Given the description of an element on the screen output the (x, y) to click on. 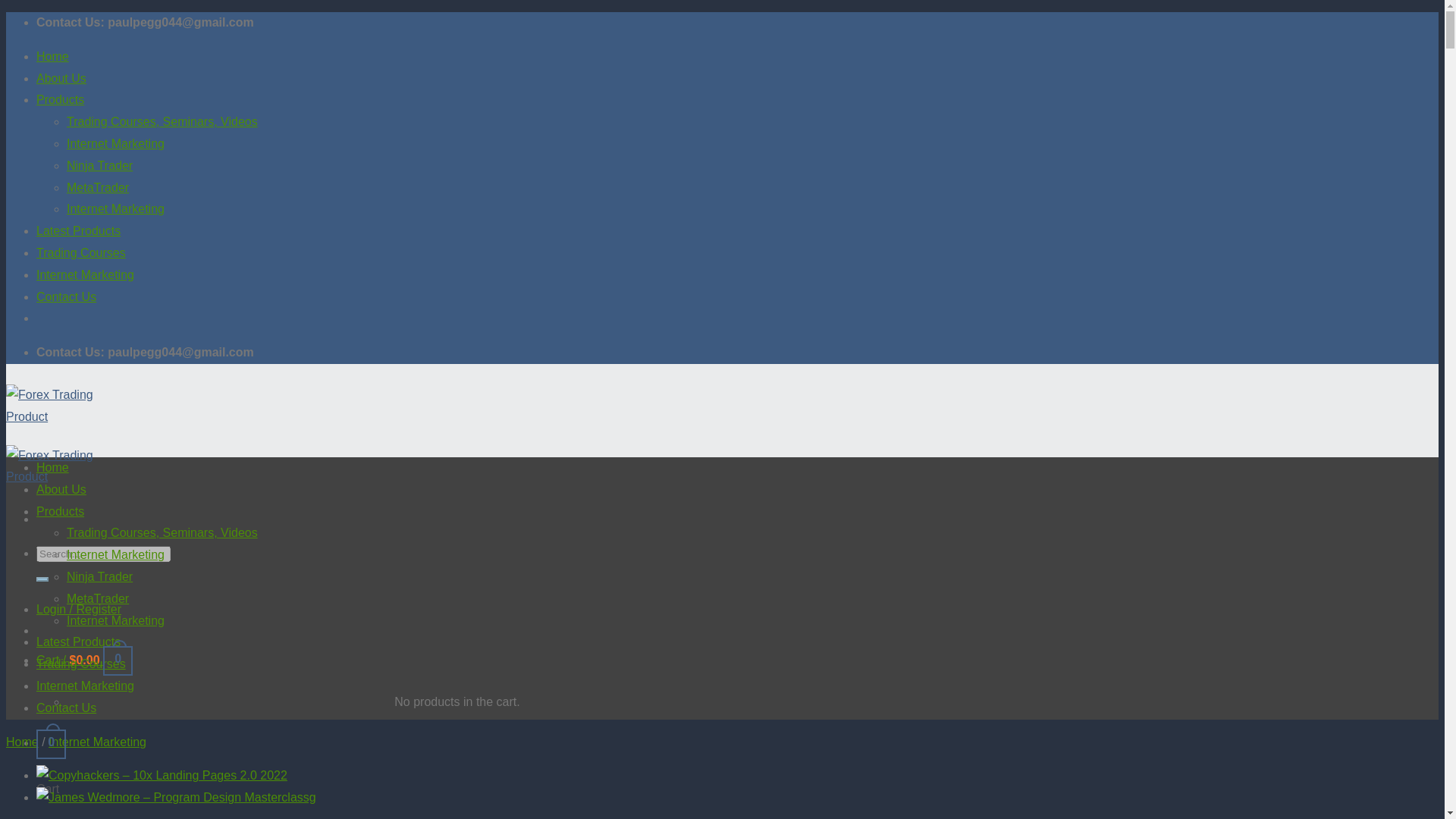
Contact Us (66, 707)
Contact Us (66, 296)
About Us (60, 489)
Ninja Trader (99, 164)
Trading Courses, Seminars, Videos (161, 532)
Internet Marketing (97, 741)
Trading Courses (80, 252)
Home (22, 741)
Internet Marketing (115, 143)
Latest Products (78, 230)
Cart (50, 742)
Cart (84, 659)
Home (52, 56)
Internet Marketing (115, 554)
Products (60, 99)
